Given the description of an element on the screen output the (x, y) to click on. 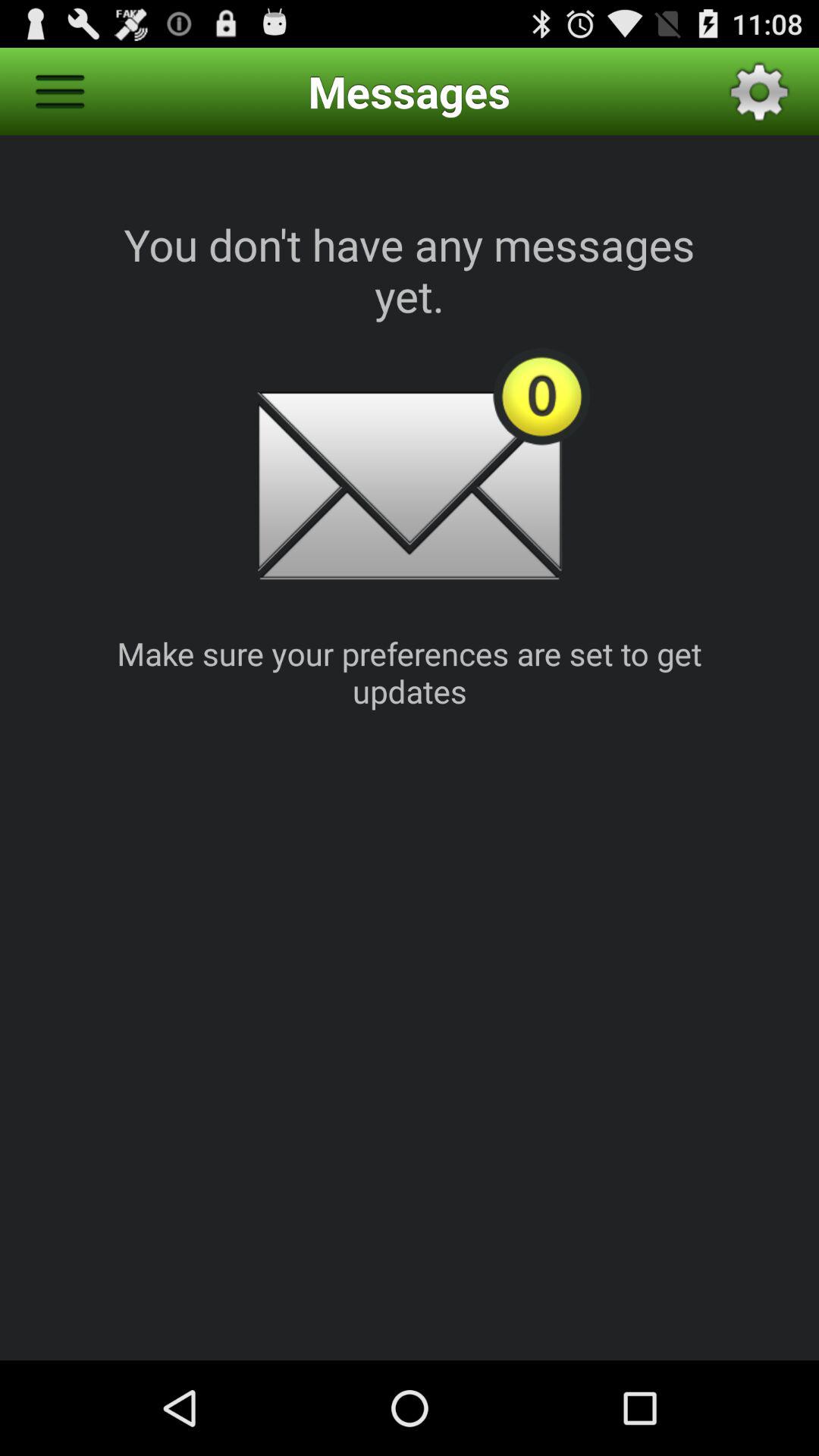
launch item at the top left corner (59, 91)
